Given the description of an element on the screen output the (x, y) to click on. 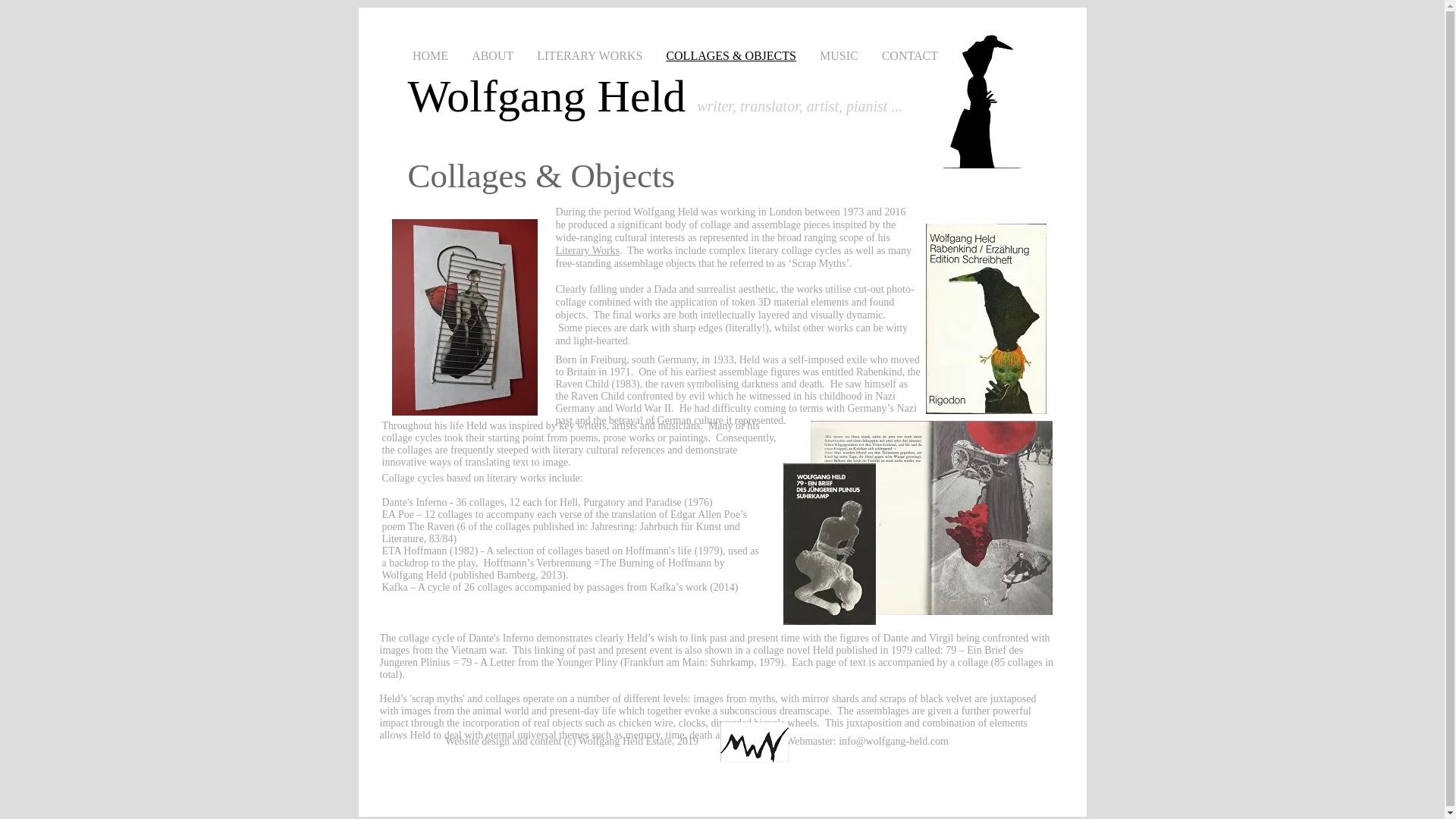
Literary Works (587, 250)
LITERARY WORKS (589, 55)
MUSIC (838, 55)
HOME (430, 55)
ABOUT (492, 55)
CONTACT (909, 55)
